Given the description of an element on the screen output the (x, y) to click on. 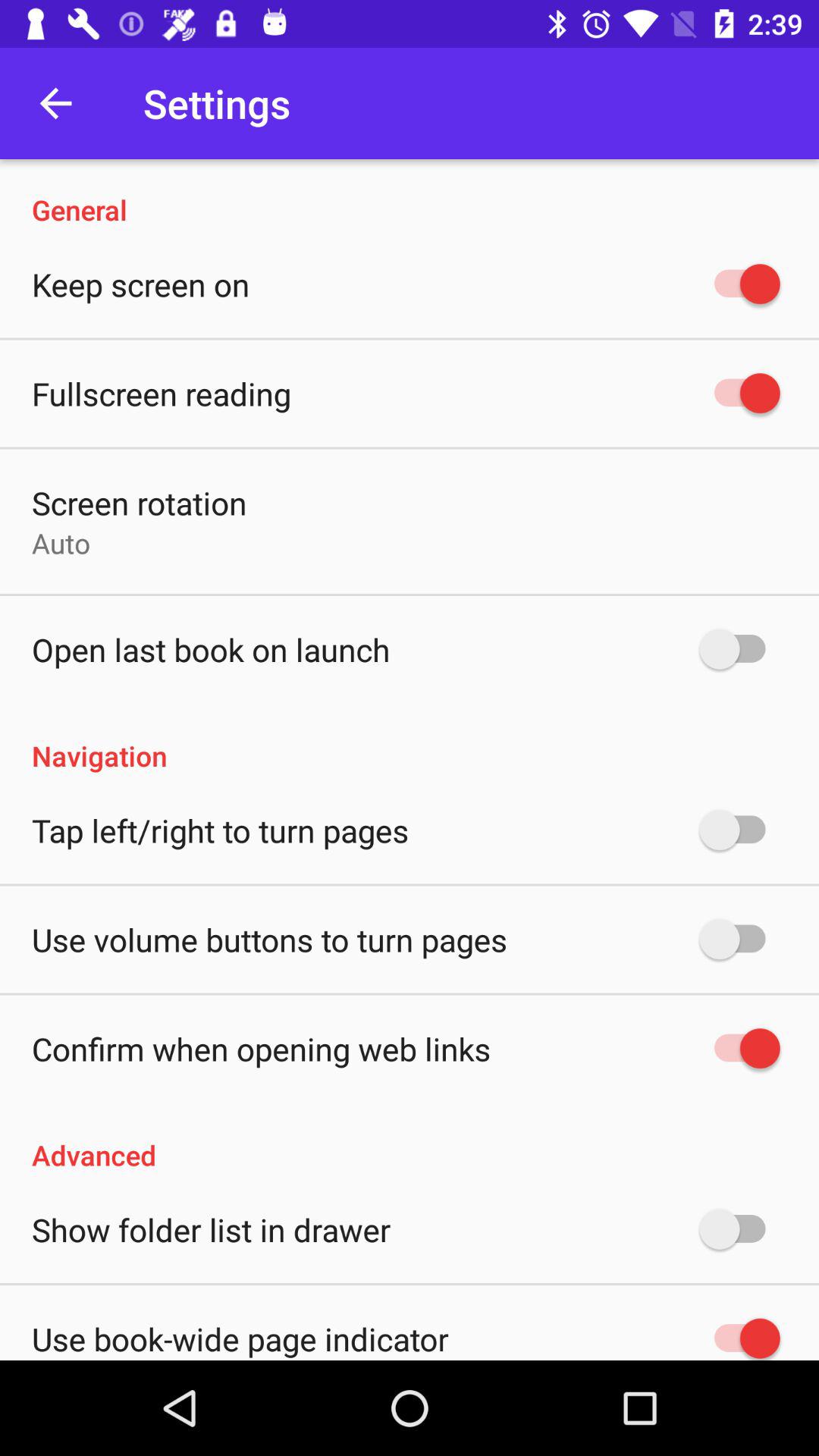
click the icon above the navigation item (210, 649)
